Given the description of an element on the screen output the (x, y) to click on. 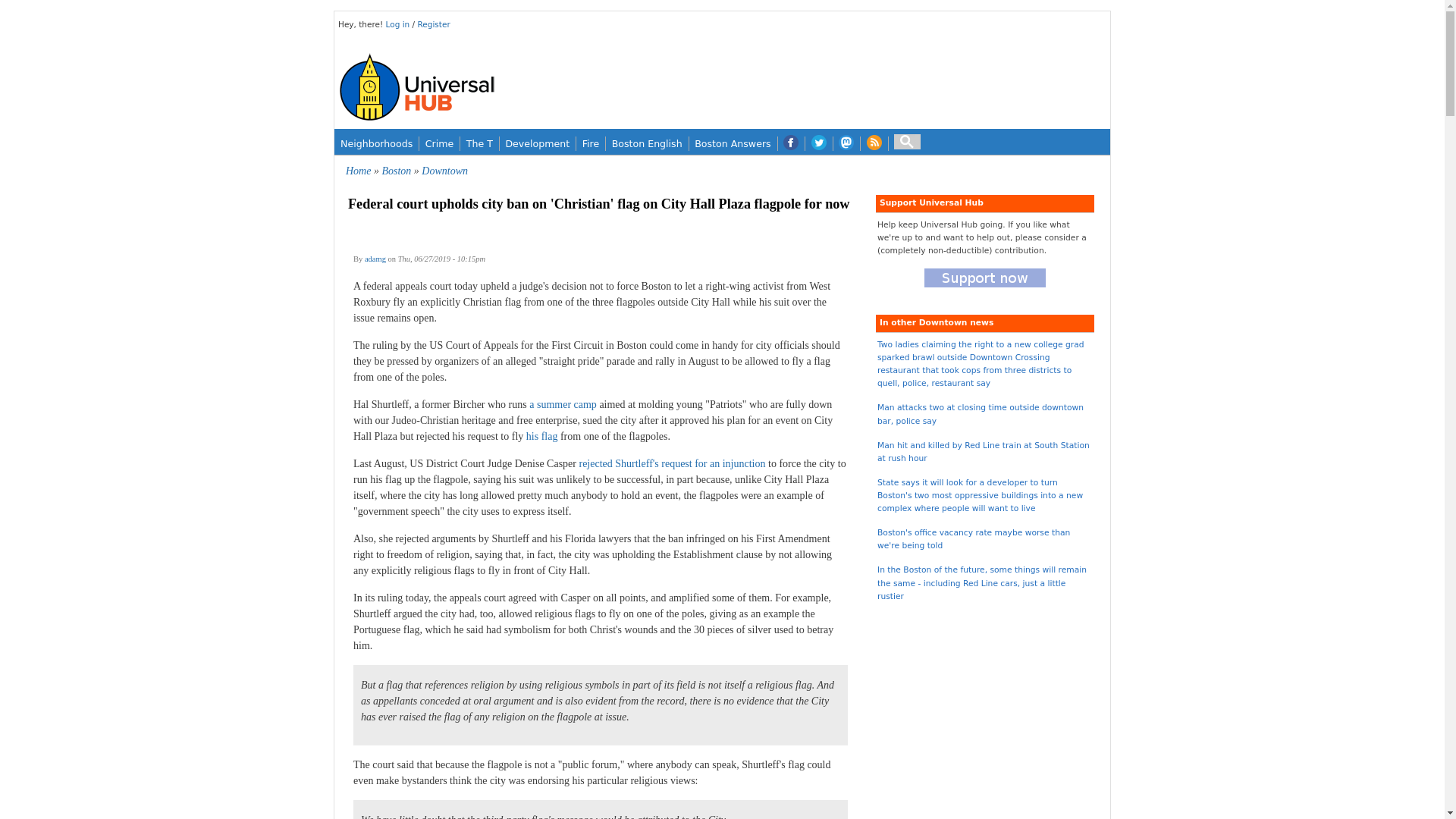
Boston (395, 170)
Universal Hub RSS feed (874, 143)
Home (358, 170)
Development (537, 143)
Latest news on new development in Boston (537, 143)
Boston Answers (732, 143)
Universal Hub on Mastodon (846, 143)
Universal Hub on Twitter (818, 143)
Universal Hub on Facebook (791, 143)
View user profile. (375, 258)
Wicked Good Guide to Boston English (646, 143)
Downtown (444, 170)
Crime (439, 143)
adamg (375, 258)
